Given the description of an element on the screen output the (x, y) to click on. 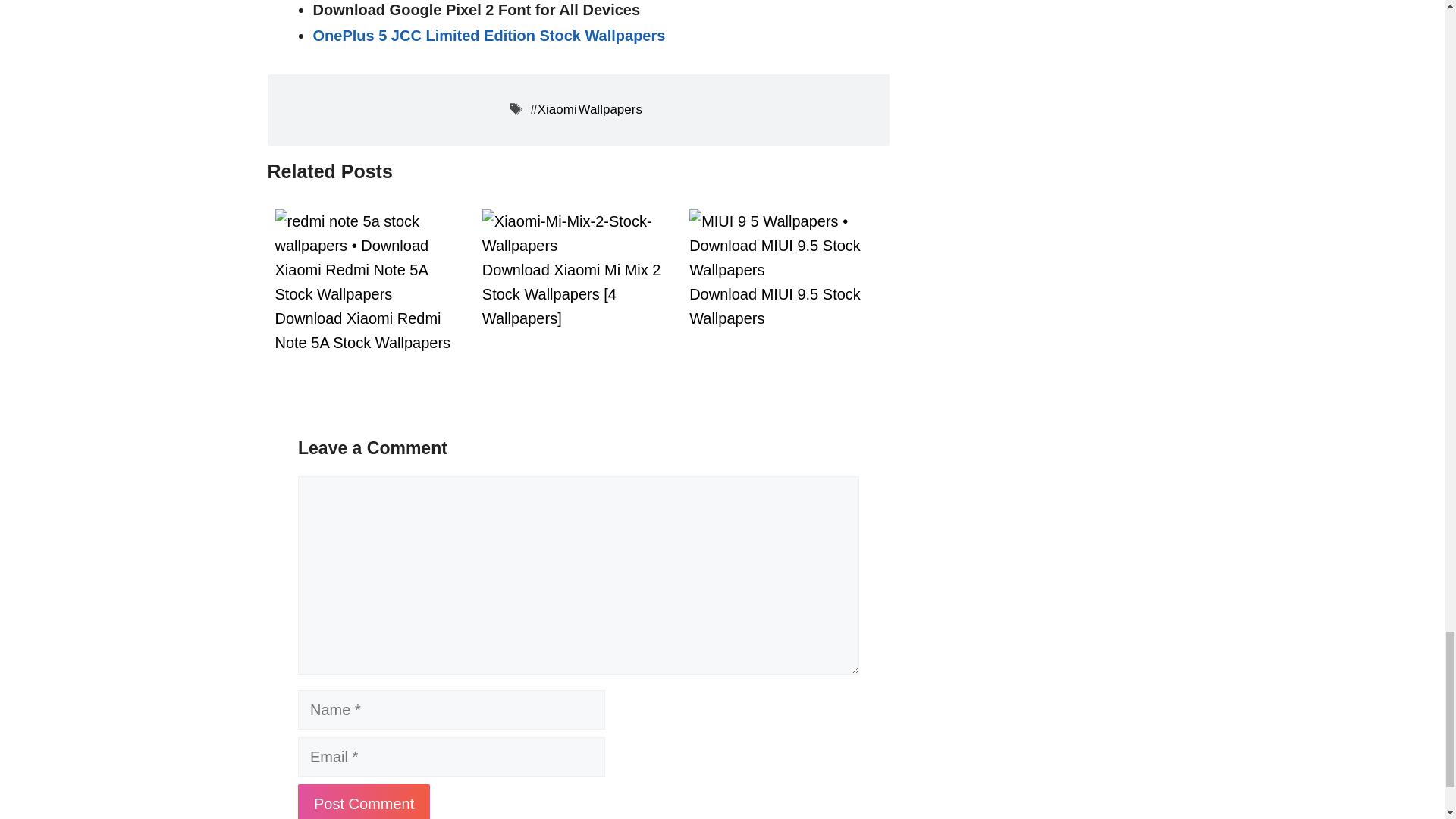
Xiaomi Wallpapers (585, 109)
OnePlus 5 JCC Limited Edition Stock Wallpapers (489, 35)
